Given the description of an element on the screen output the (x, y) to click on. 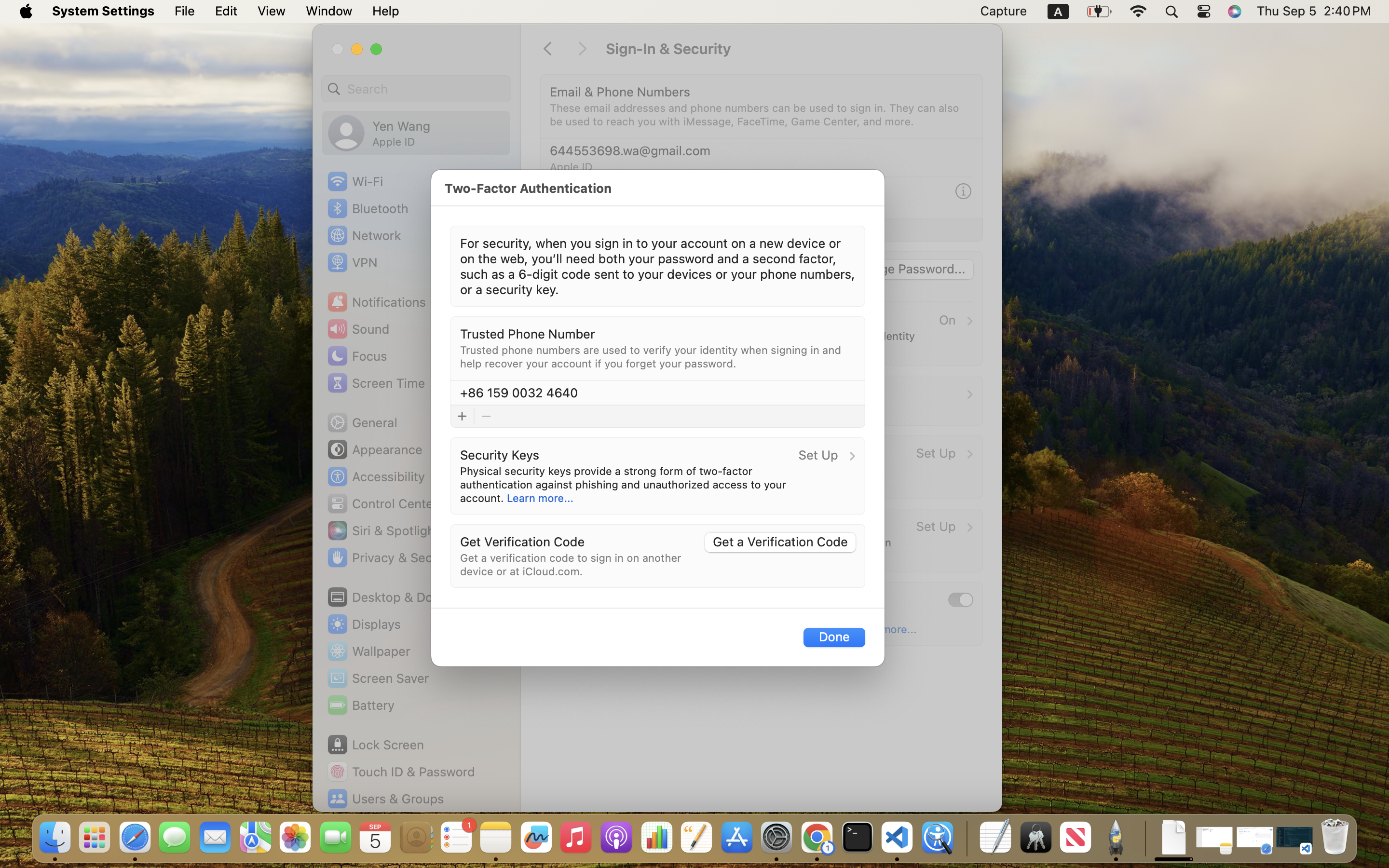
Trusted Phone Number Element type: AXStaticText (527, 333)
Bluetooth Element type: AXStaticText (367, 207)
Trusted phone numbers are used to verify your identity when signing in and help recover your account if you forget your password. Element type: AXStaticText (652, 356)
Notifications Element type: AXStaticText (376, 301)
Lock Screen Element type: AXStaticText (375, 744)
